Given the description of an element on the screen output the (x, y) to click on. 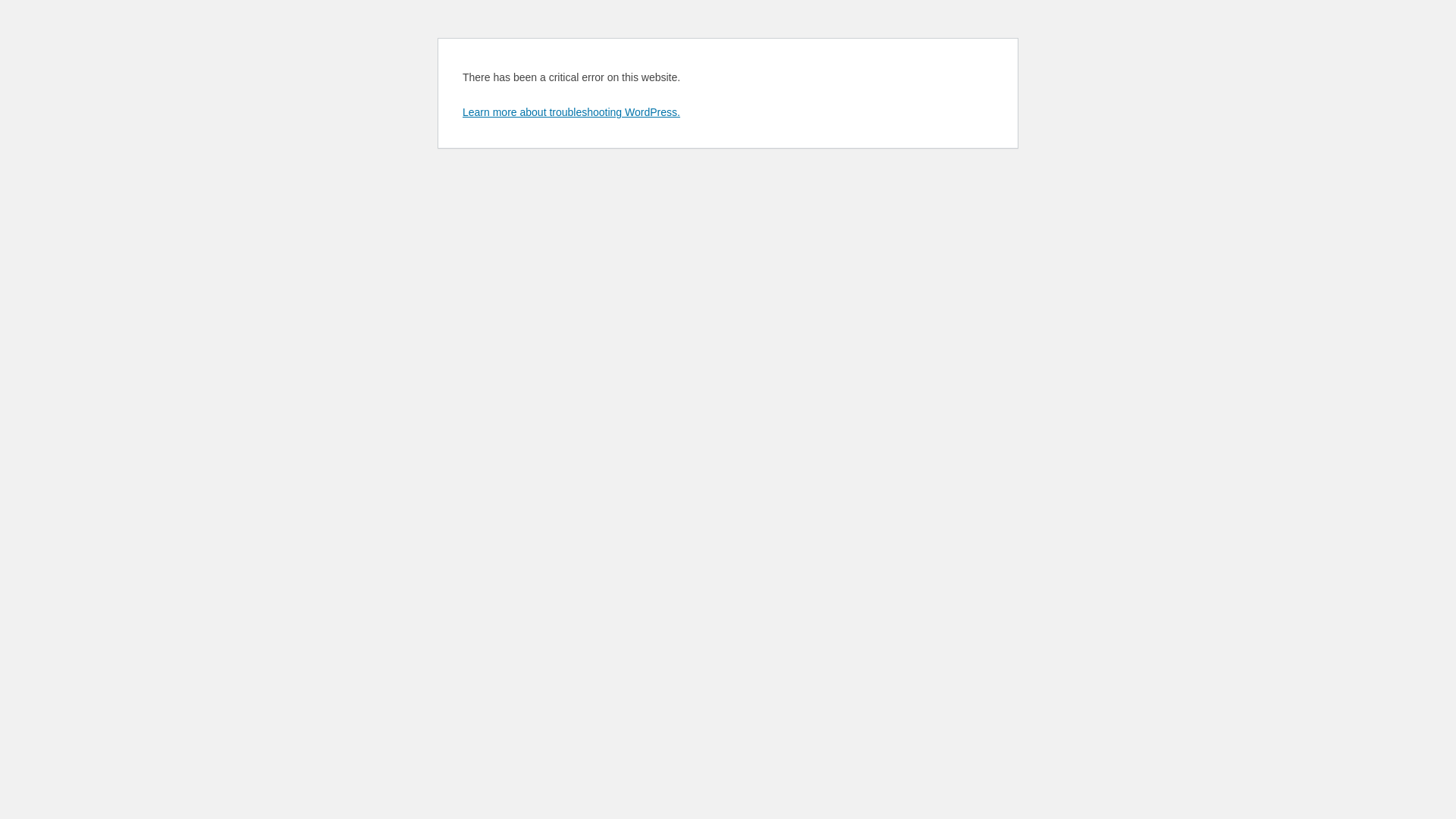
Learn more about troubleshooting WordPress. Element type: text (571, 112)
